Given the description of an element on the screen output the (x, y) to click on. 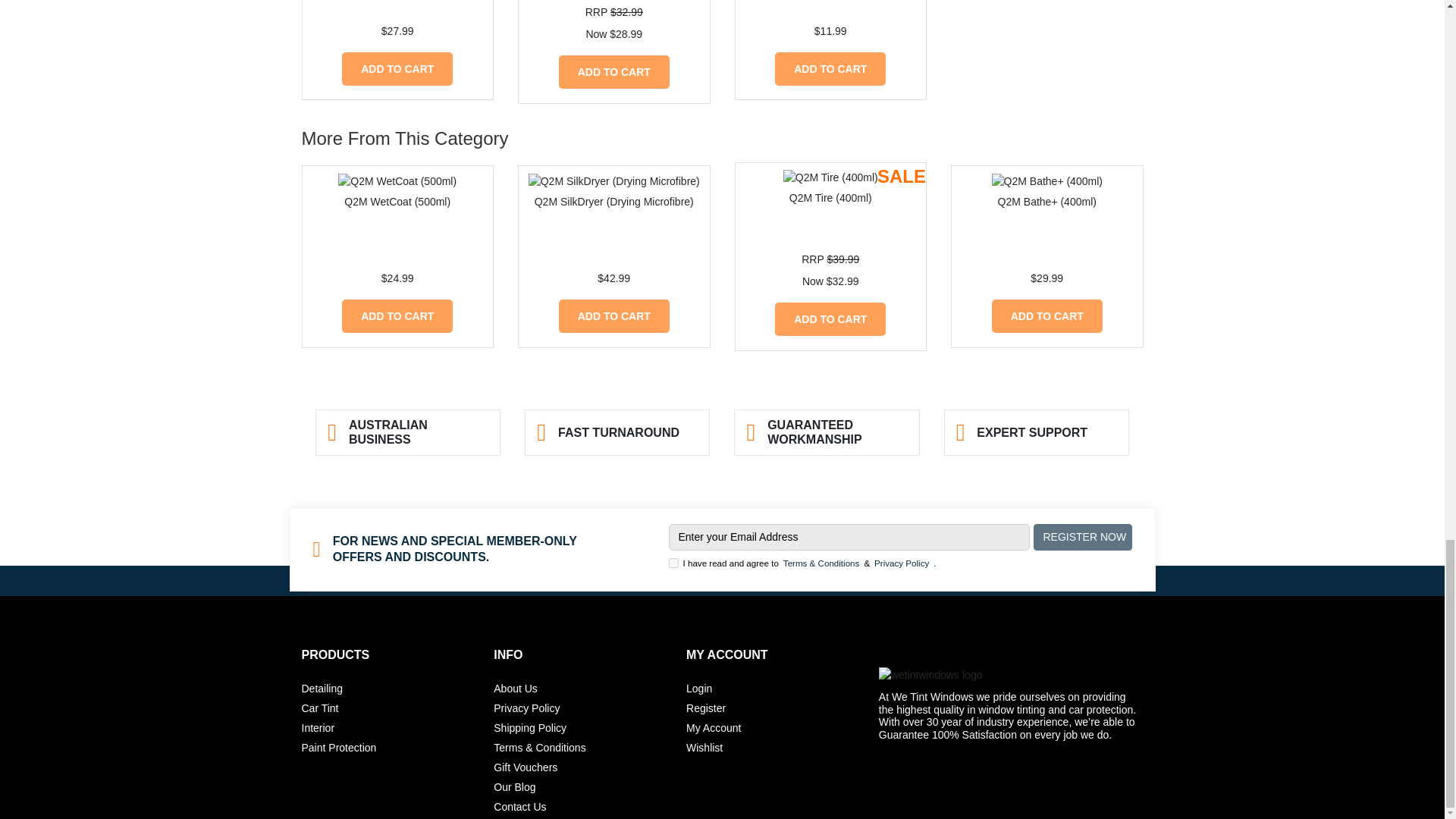
wetintwindows (1010, 674)
Add Q2M WaffleDryer to Cart (829, 68)
Register Now (1081, 537)
y (673, 562)
